Given the description of an element on the screen output the (x, y) to click on. 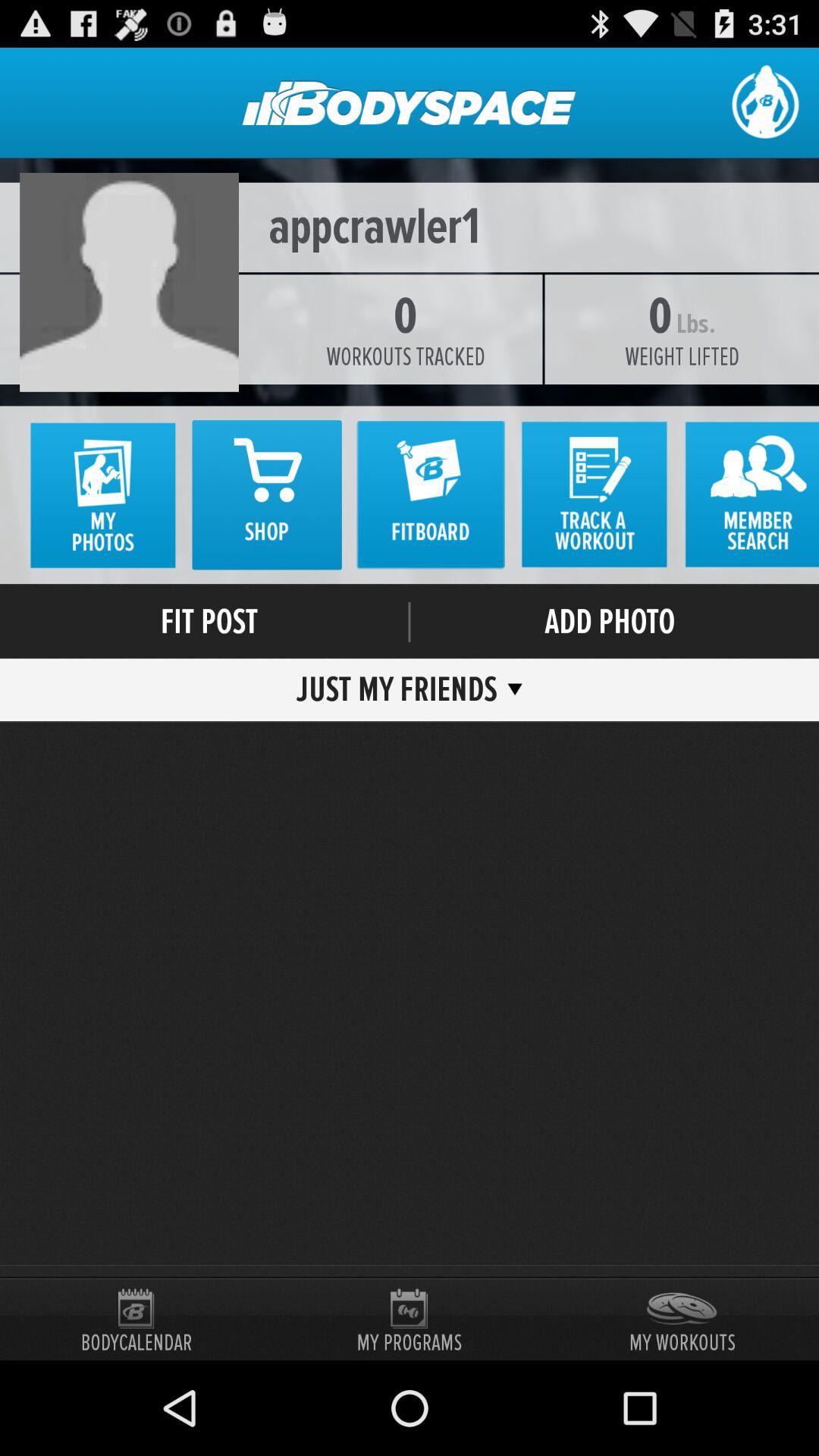
click icon below the pull to refresh... item (409, 227)
